Given the description of an element on the screen output the (x, y) to click on. 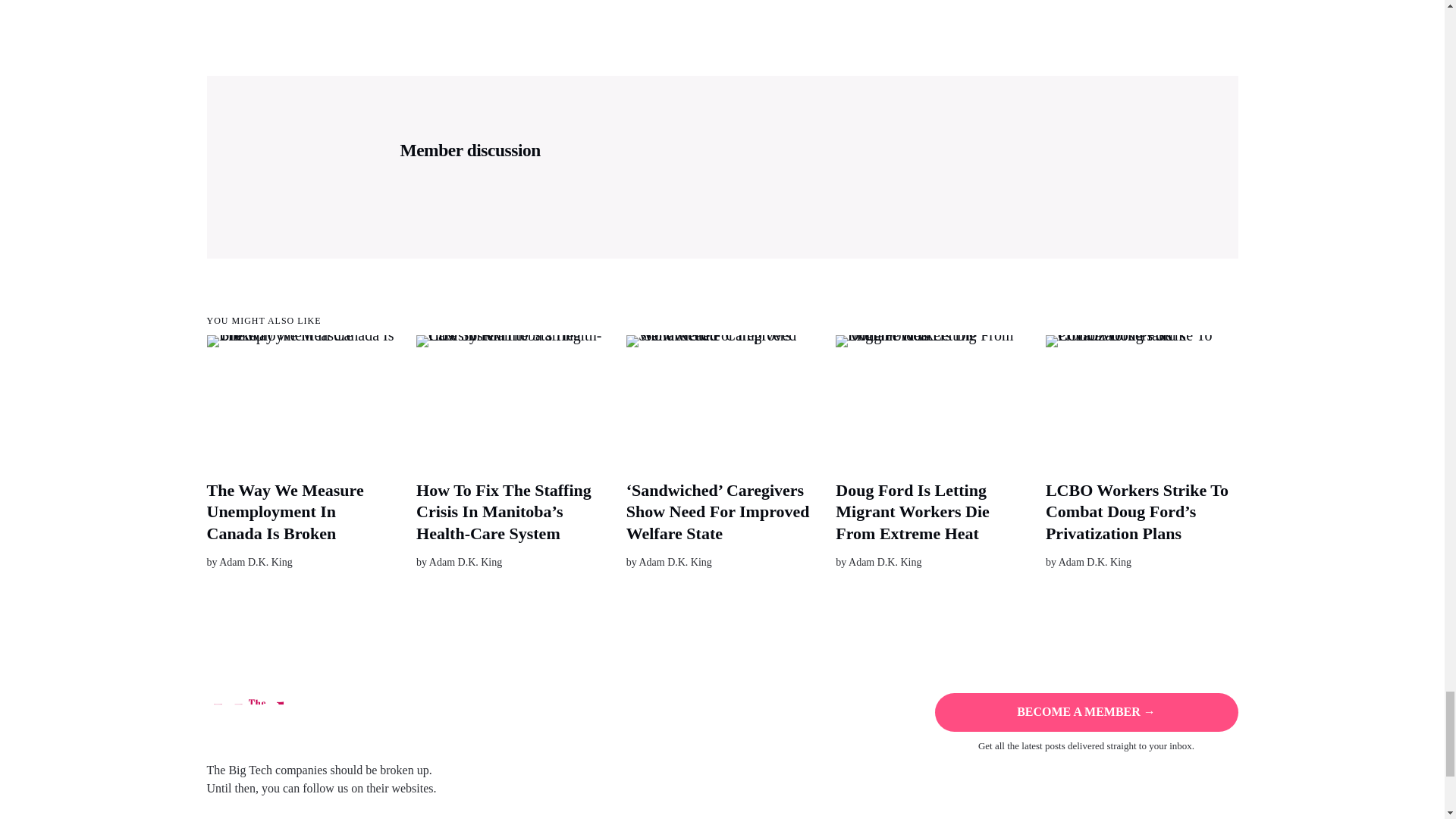
Doug Ford Is Letting Migrant Workers Die From Extreme Heat (911, 511)
Adam D.K. King (465, 562)
Adam D.K. King (255, 562)
Adam D.K. King (675, 562)
Adam D.K. King (1094, 562)
The Way We Measure Unemployment In Canada Is Broken (284, 511)
Adam D.K. King (884, 562)
